Given the description of an element on the screen output the (x, y) to click on. 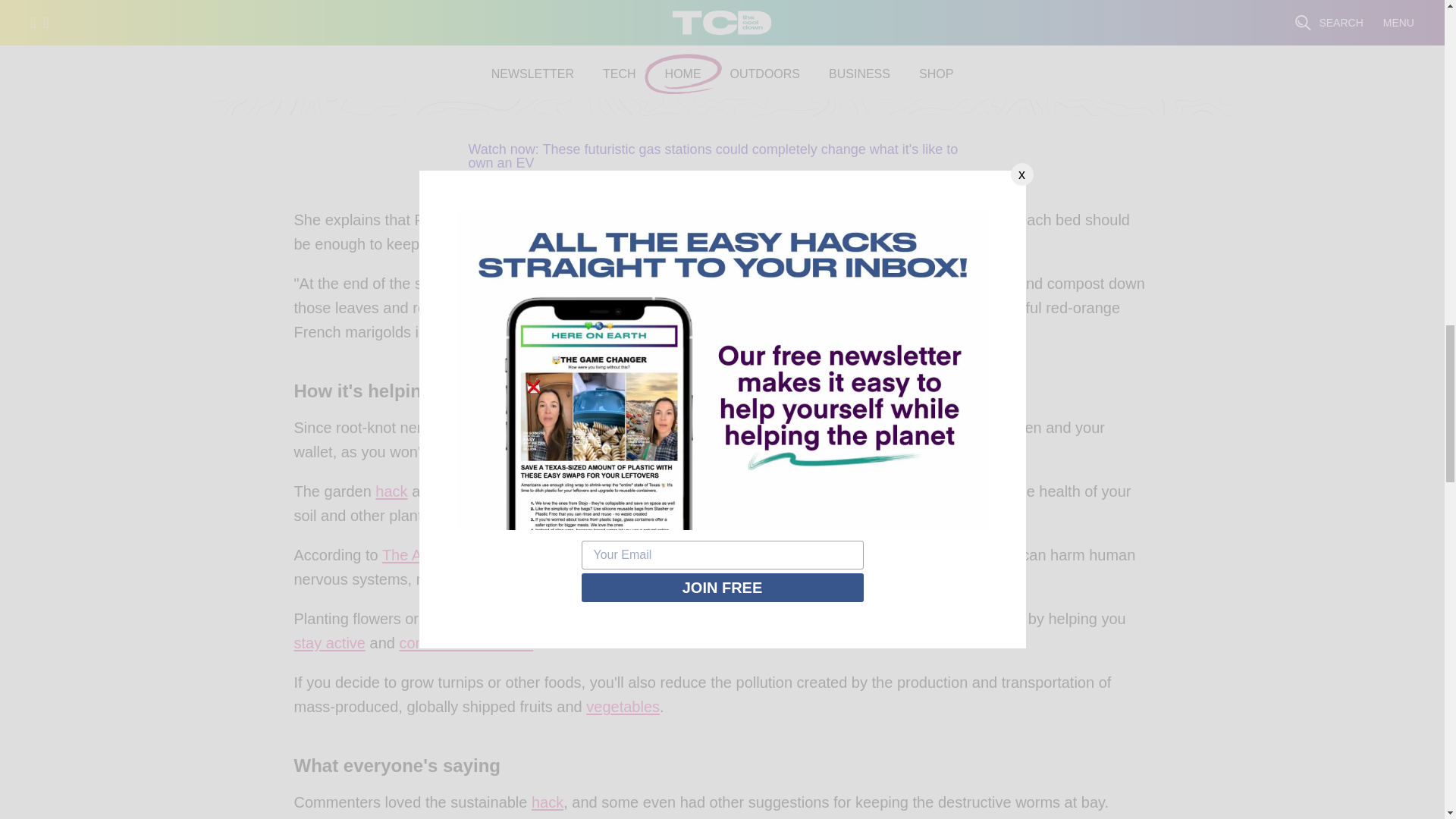
These are the best vegetables to grow for beginners (622, 710)
Hacks (391, 494)
Hacks (547, 805)
Sign Up (1038, 53)
